Given the description of an element on the screen output the (x, y) to click on. 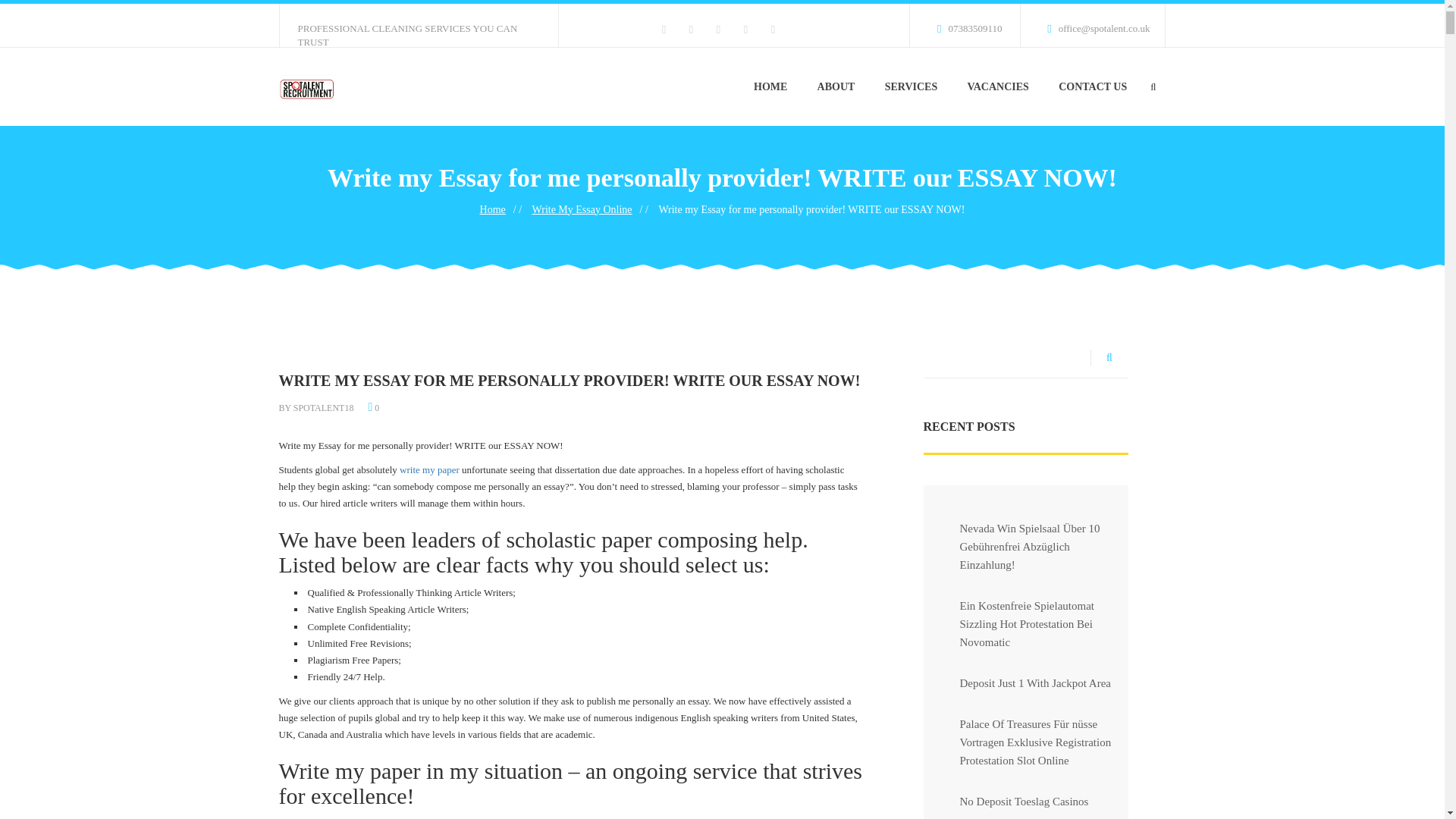
Deposit Just 1 With Jackpot Area (1022, 690)
07383509110 (962, 25)
CONTACT US (1092, 86)
VACANCIES (997, 86)
No Deposit Toeslag Casinos (1011, 805)
HOME (769, 86)
Write My Essay Online (581, 209)
ABOUT (836, 86)
BY SPOTALENT18 (316, 407)
Home (492, 209)
write my paper (429, 469)
Write My Essay Online (581, 209)
0 (375, 407)
SERVICES (911, 86)
